Given the description of an element on the screen output the (x, y) to click on. 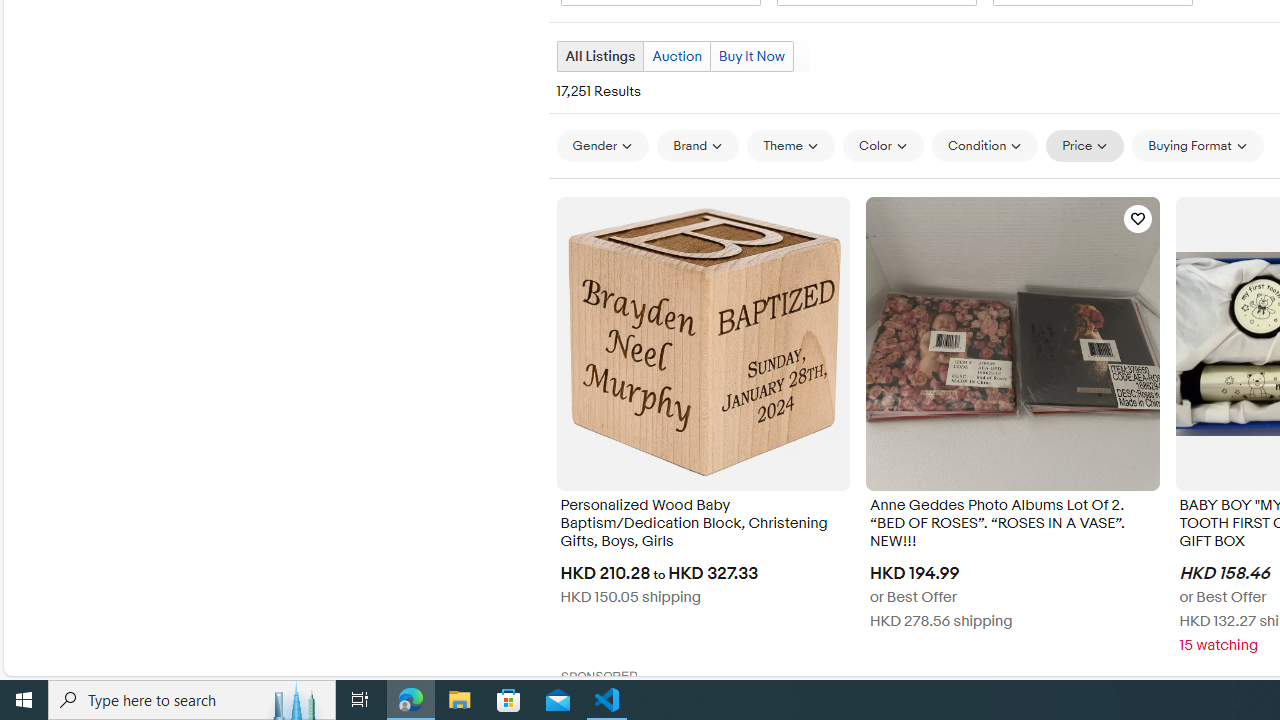
Buying Format (1197, 146)
Theme (791, 146)
Auction (676, 56)
Condition (984, 146)
All Listings Current view (599, 56)
Buying Format (1197, 145)
Color (883, 146)
Brand (697, 145)
